Given the description of an element on the screen output the (x, y) to click on. 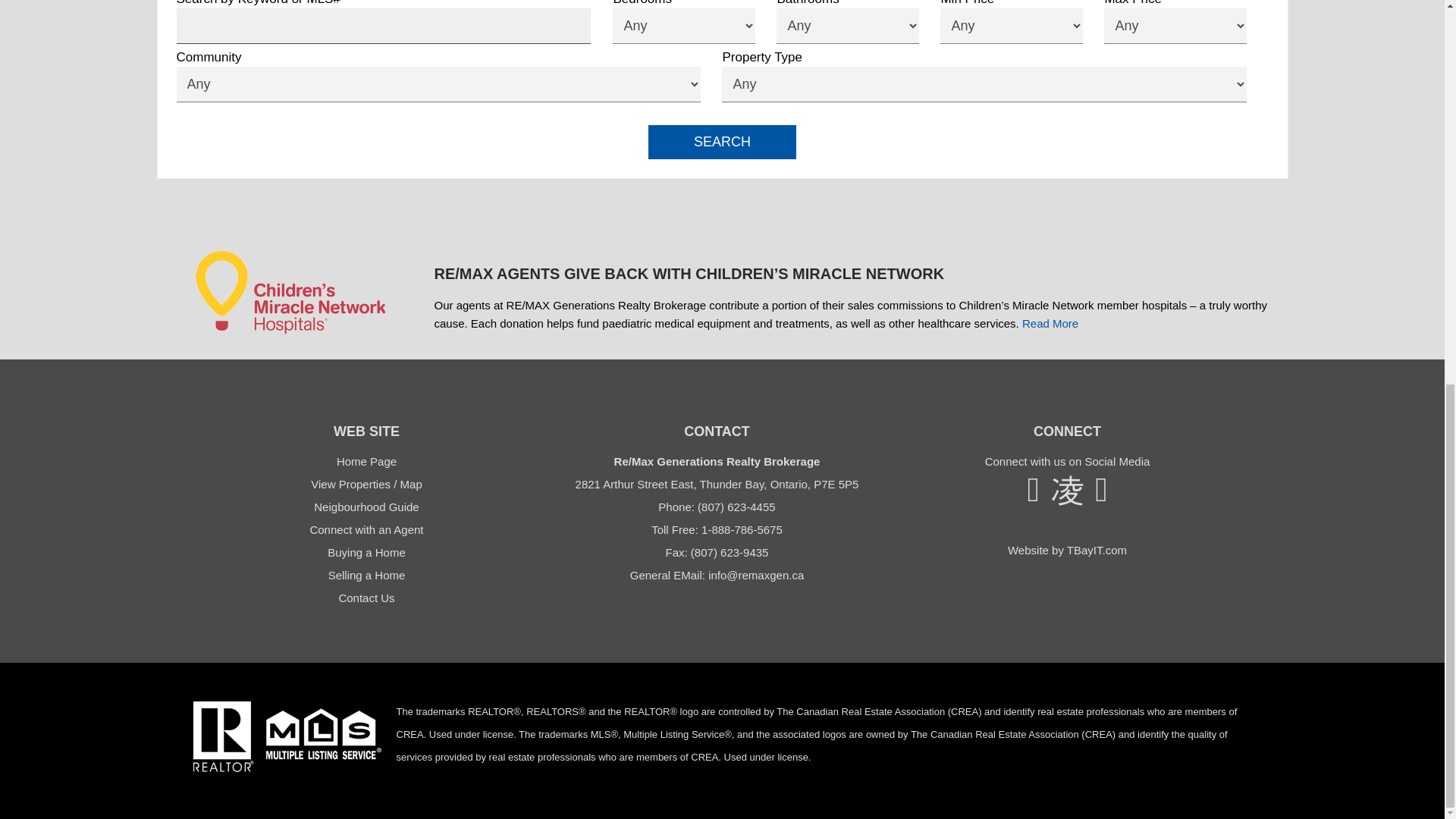
Connect with an Agent (365, 529)
Selling a Home (367, 574)
 Search  (721, 141)
Contact Us (365, 597)
View Properties (350, 483)
Buying a Home (366, 552)
Neigbourhood Guide (366, 506)
Read More (1050, 323)
 Search  (721, 141)
Map (411, 483)
Home Page (366, 461)
Website by TBayIT.com (1066, 549)
